Given the description of an element on the screen output the (x, y) to click on. 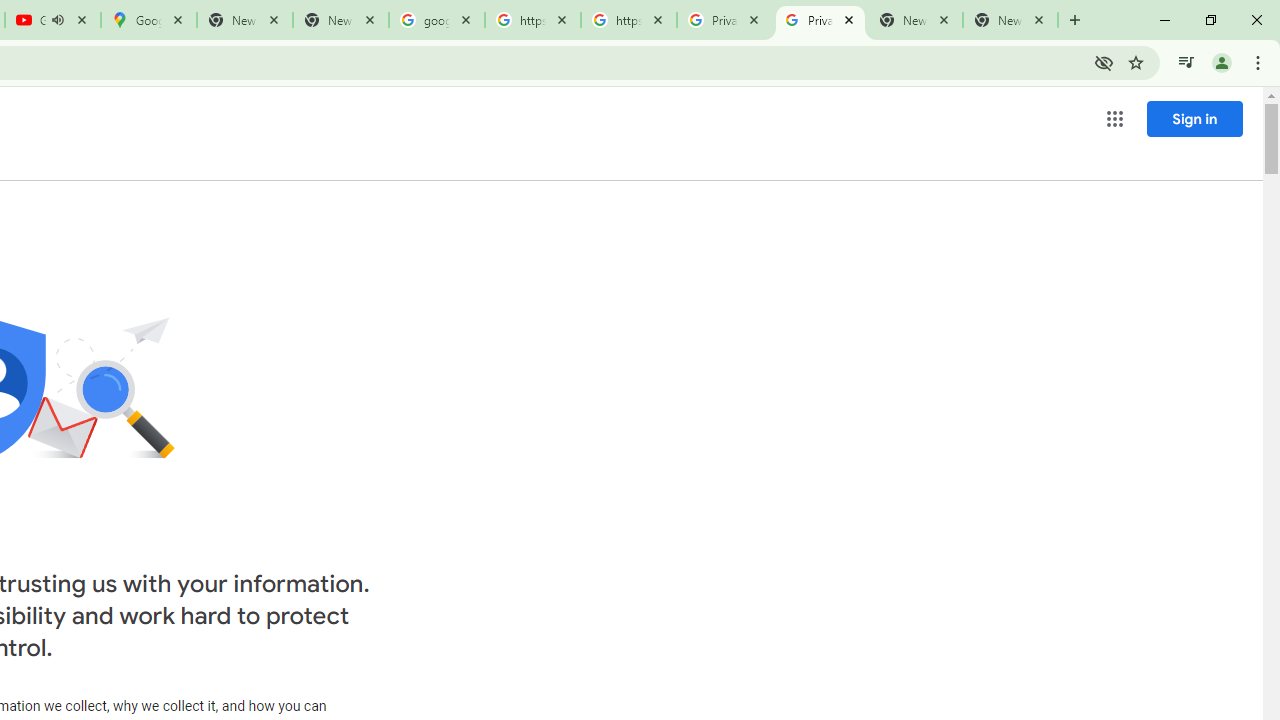
https://scholar.google.com/ (533, 20)
Google Maps (149, 20)
